Given the description of an element on the screen output the (x, y) to click on. 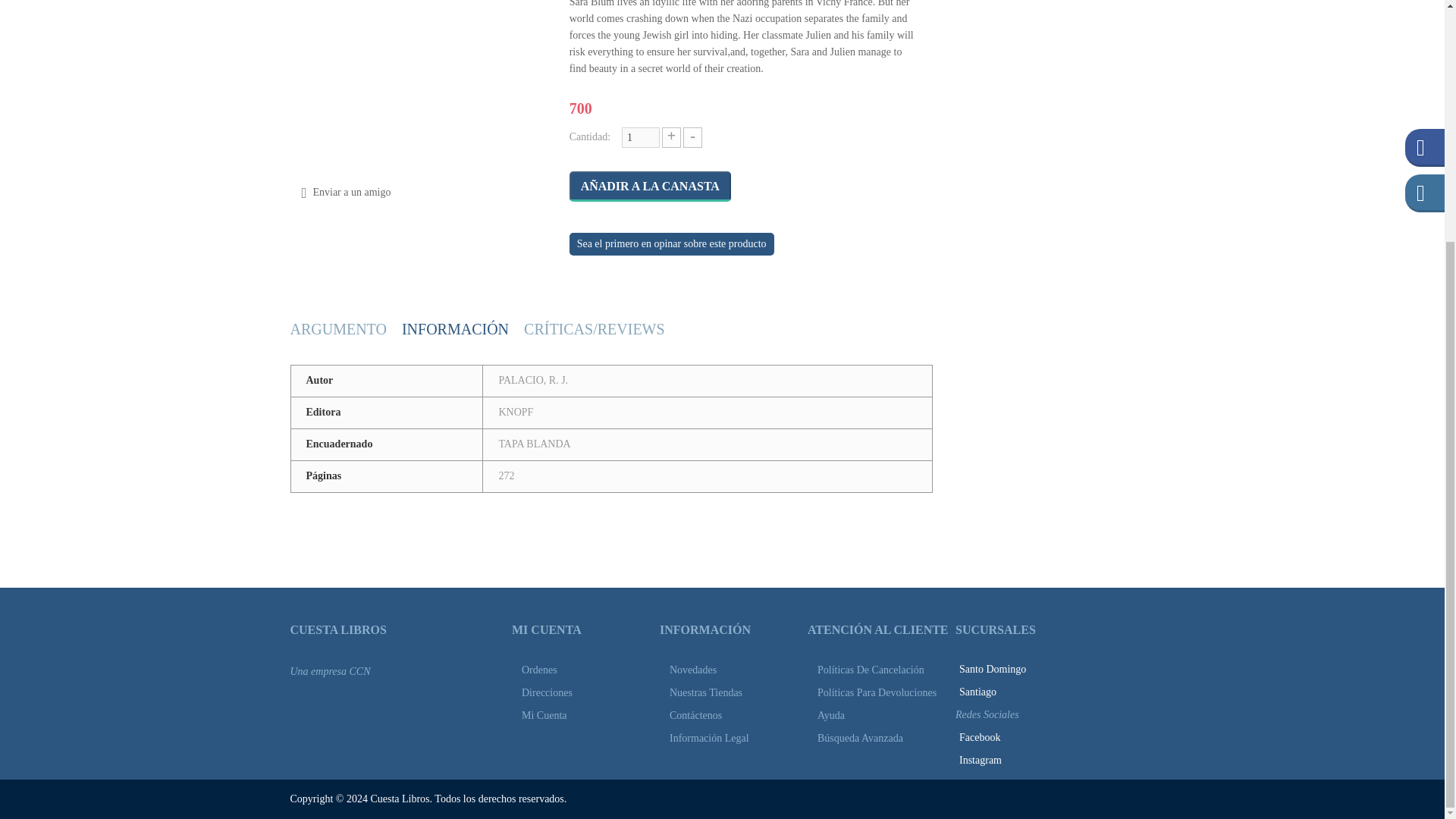
1 (640, 137)
Enviar a un amigo (351, 192)
